Given the description of an element on the screen output the (x, y) to click on. 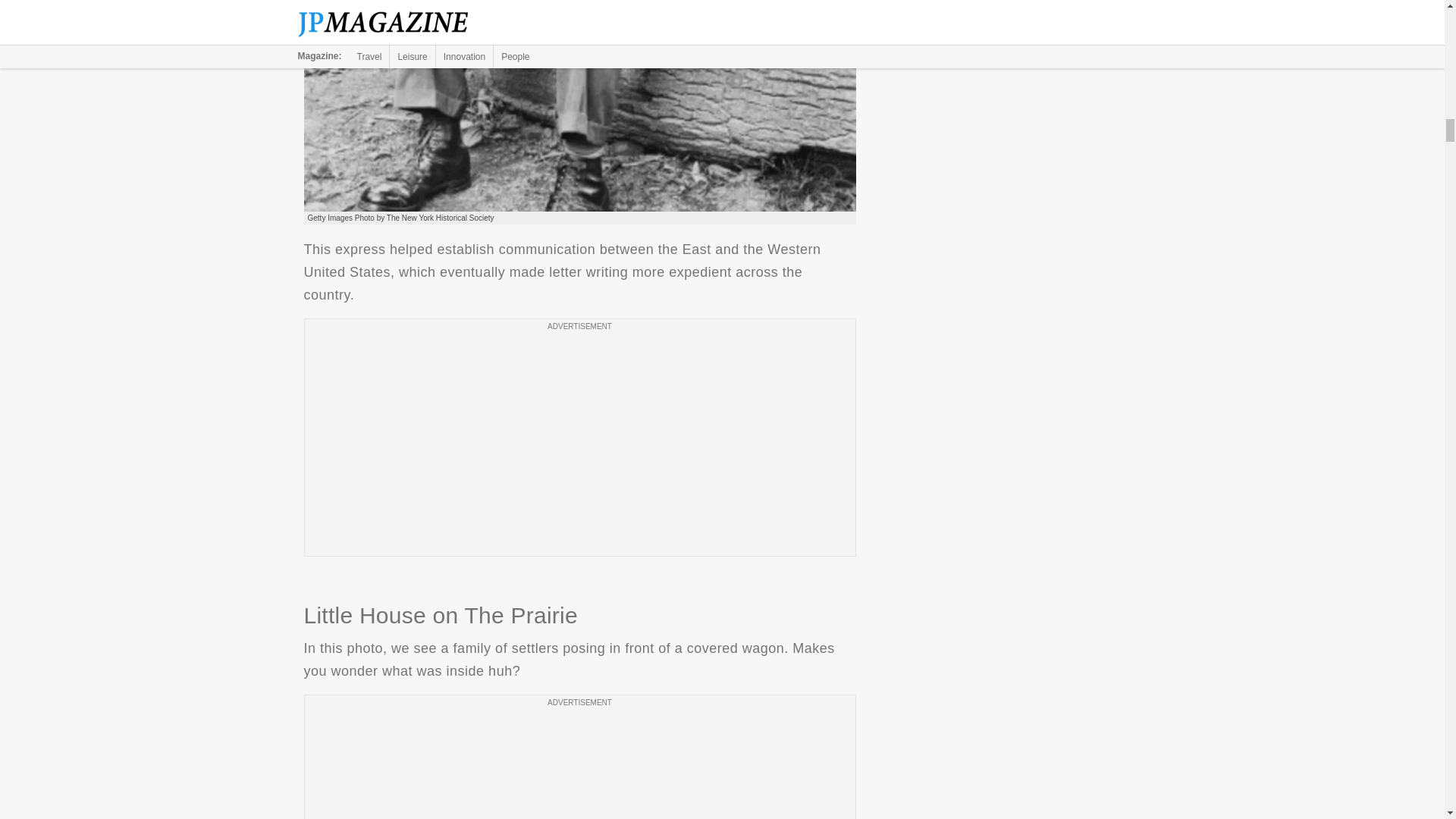
Broncho Charlie Miller (579, 105)
